Given the description of an element on the screen output the (x, y) to click on. 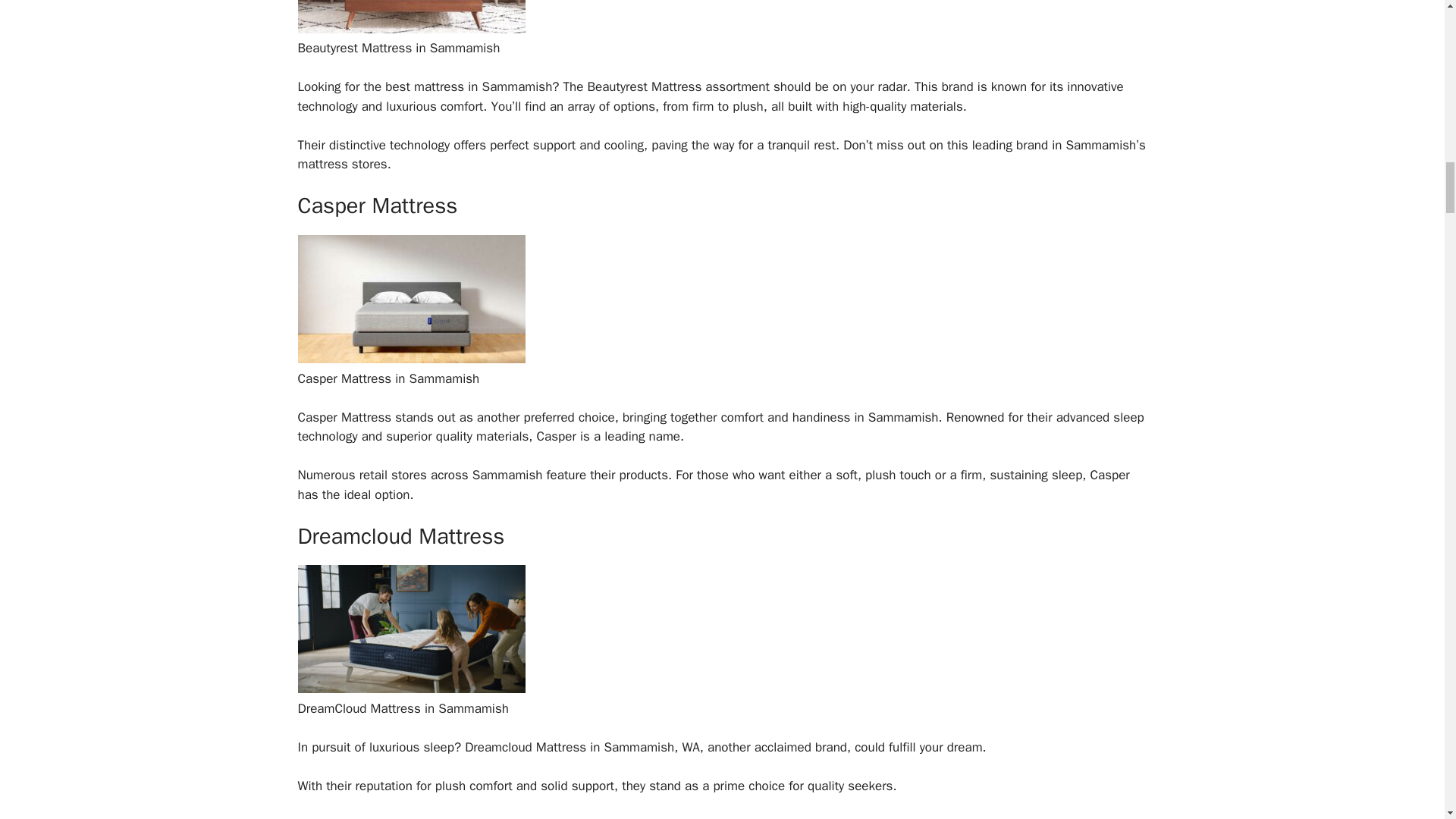
Beautyrest Mattress Sammamish (410, 28)
DreamCloud Mattress Near Me in Sammamish (410, 688)
Casper Mattress Sammamish (410, 358)
